Given the description of an element on the screen output the (x, y) to click on. 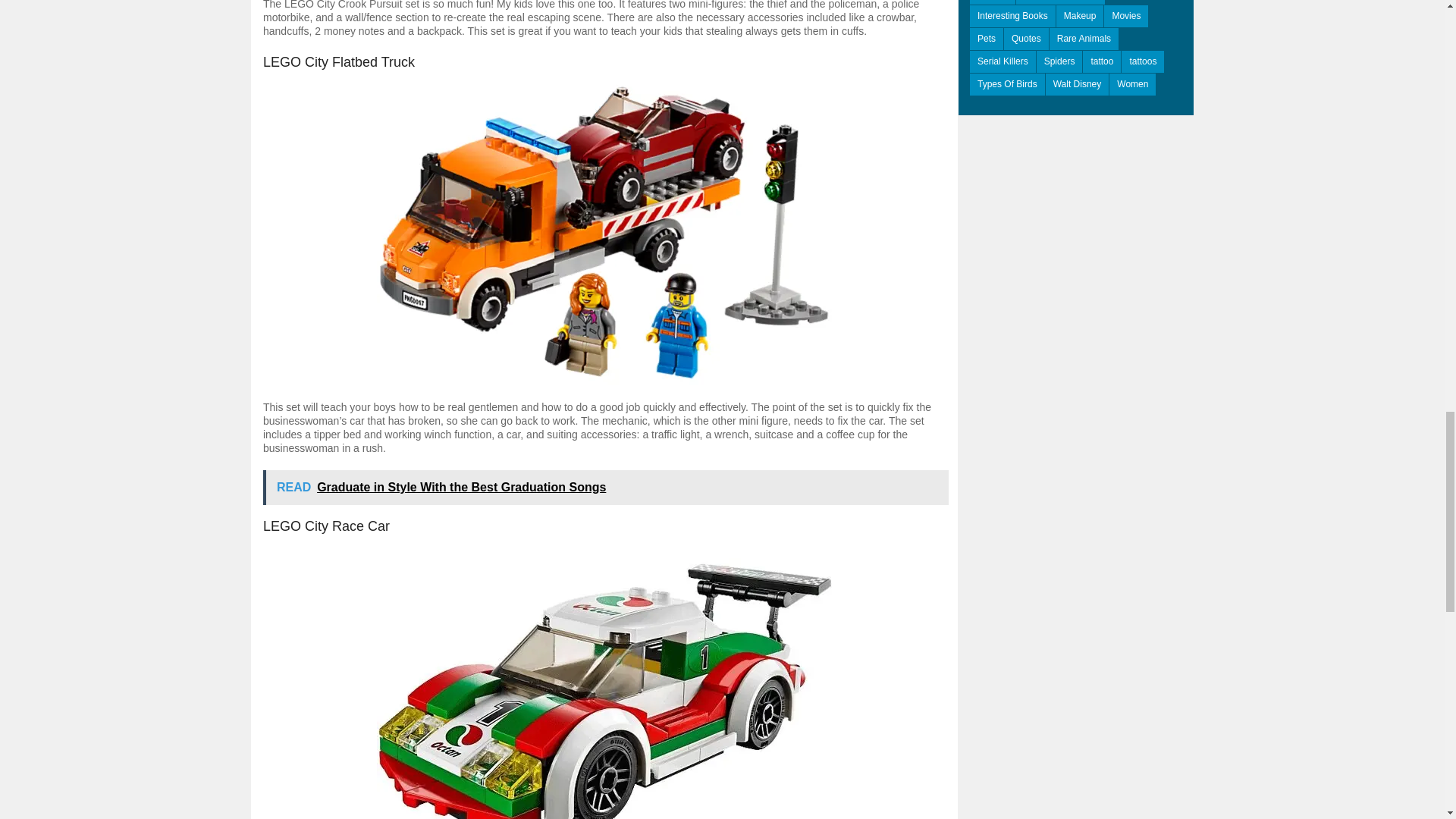
READ  Graduate in Style With the Best Graduation Songs (606, 487)
